Given the description of an element on the screen output the (x, y) to click on. 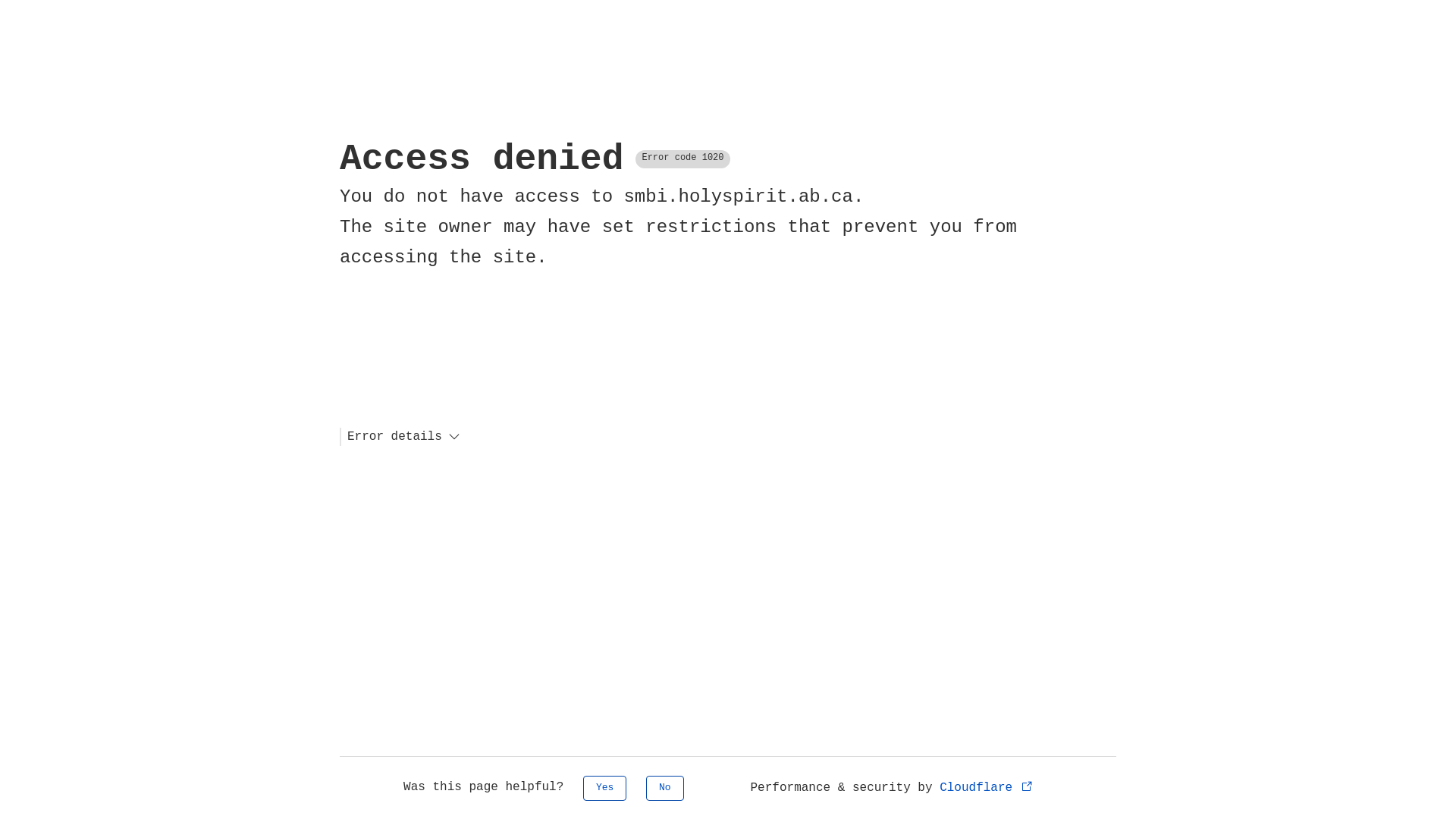
Cloudflare Element type: text (986, 787)
No Element type: text (665, 787)
Yes Element type: text (604, 787)
Opens in new tab Element type: hover (1027, 785)
